Given the description of an element on the screen output the (x, y) to click on. 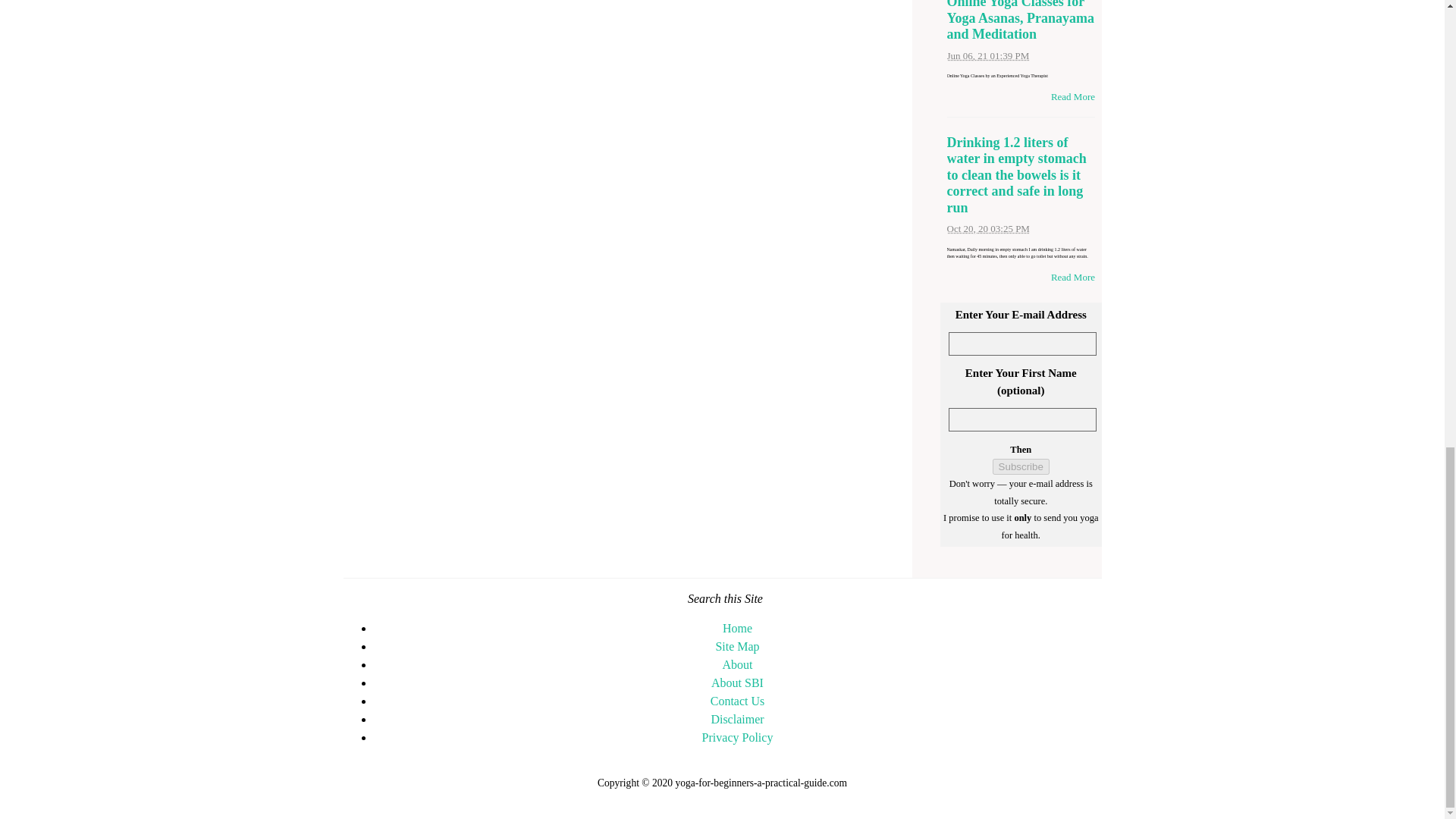
About (737, 664)
Site Map (736, 645)
2020-10-20T15:25:51-0400 (987, 228)
Read More (1072, 96)
Contact Us (737, 700)
About SBI (736, 682)
Disclaimer (736, 718)
Home (737, 627)
2021-06-06T13:39:12-0400 (987, 55)
Read More (1072, 276)
Subscribe (1020, 466)
Privacy Policy (737, 737)
